Given the description of an element on the screen output the (x, y) to click on. 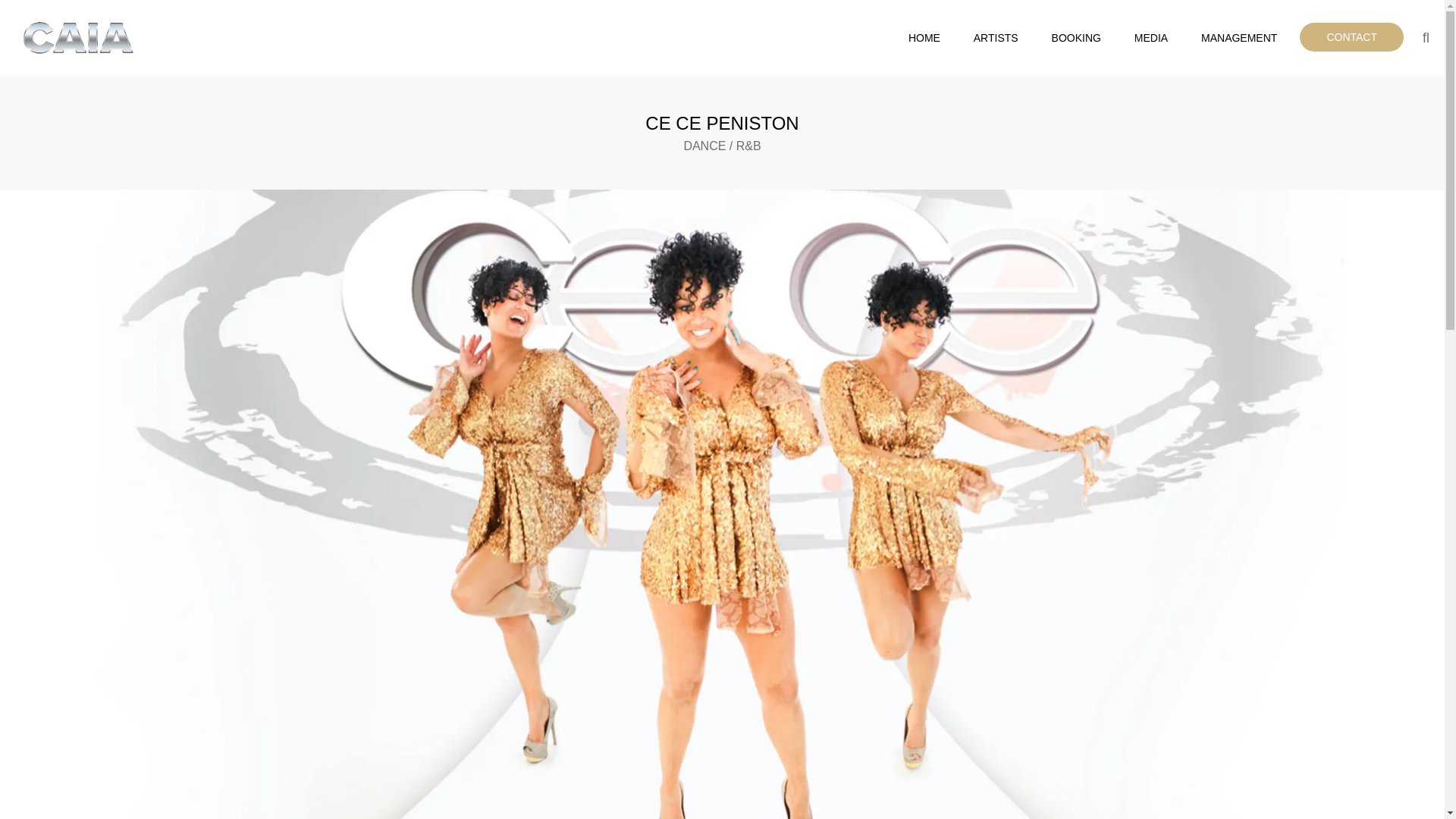
CONTACT (1351, 36)
MEDIA (1150, 37)
ARTISTS (995, 37)
HOME (924, 37)
MANAGEMENT (1239, 37)
BOOKING (1076, 37)
